Given the description of an element on the screen output the (x, y) to click on. 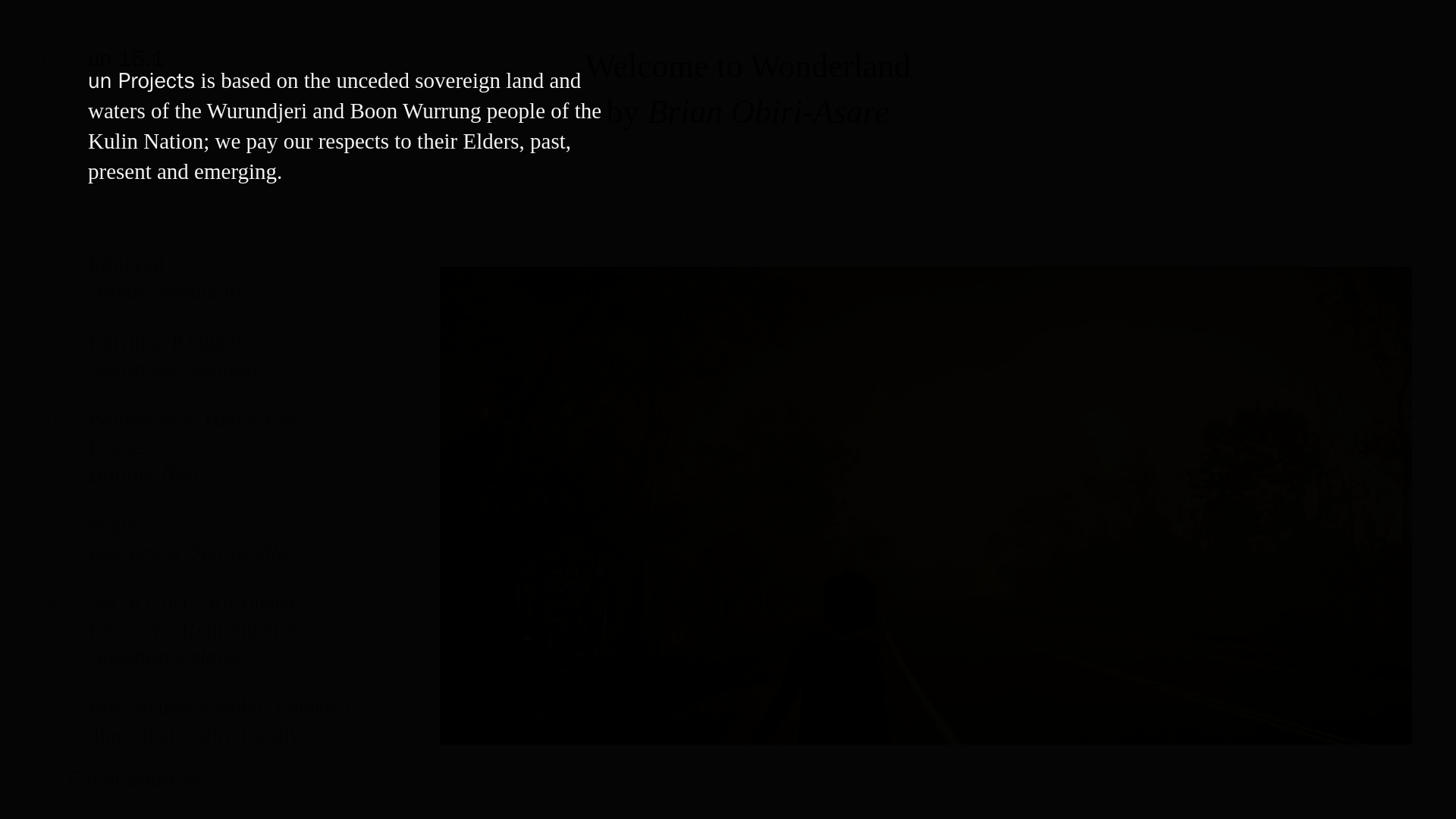
Posts by Brian Obiri-Asare (197, 458)
Brian Obiri-Asare (768, 111)
